Given the description of an element on the screen output the (x, y) to click on. 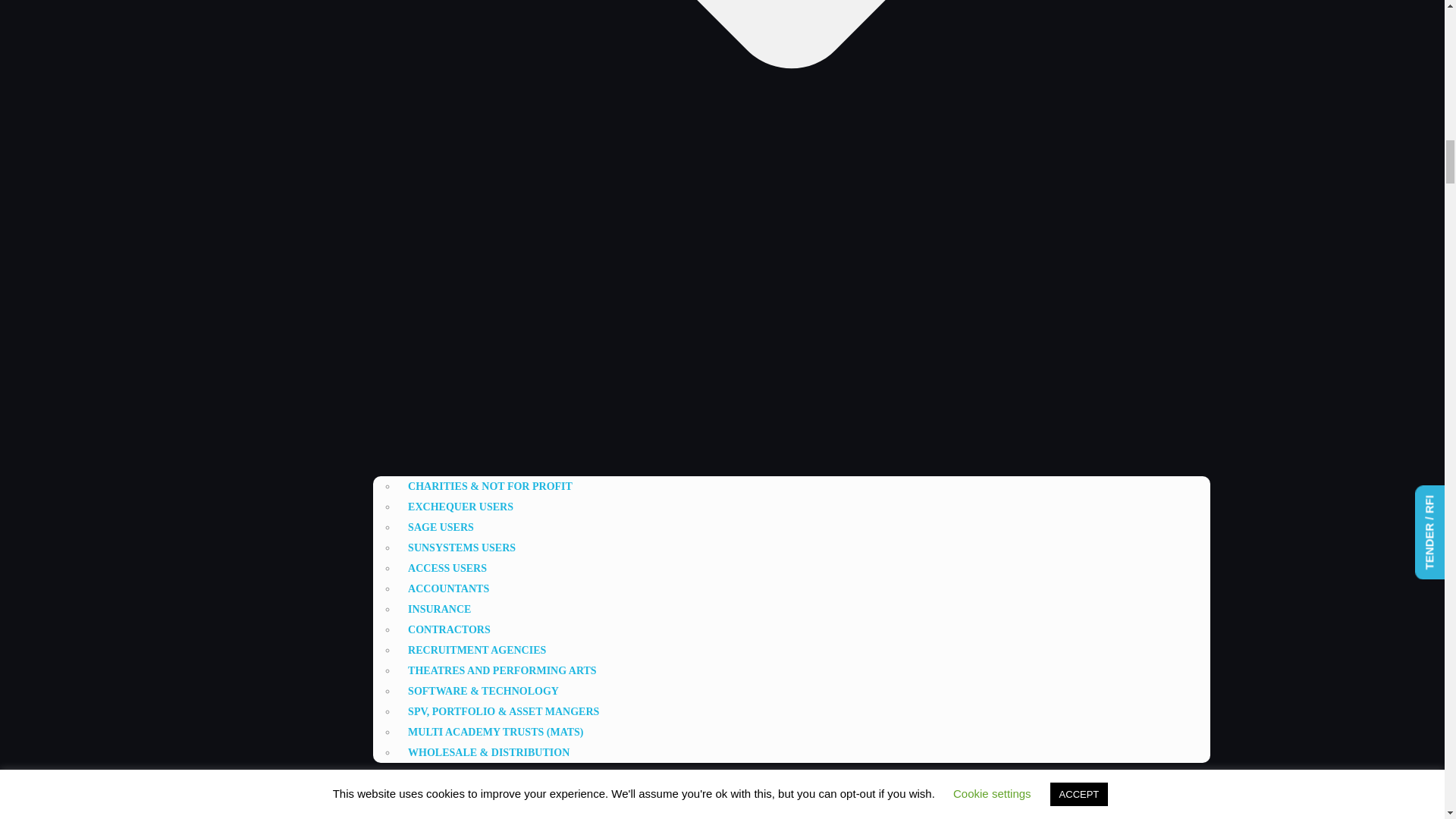
ACCESS USERS (447, 567)
INSURANCE (439, 608)
ACCOUNTANTS (448, 588)
SUNSYSTEMS USERS (461, 547)
EXCHEQUER USERS (460, 506)
THEATRES AND PERFORMING ARTS (502, 670)
CONTRACTORS (448, 629)
SAGE USERS (440, 526)
RECRUITMENT AGENCIES (476, 649)
Who we are (804, 789)
